Given the description of an element on the screen output the (x, y) to click on. 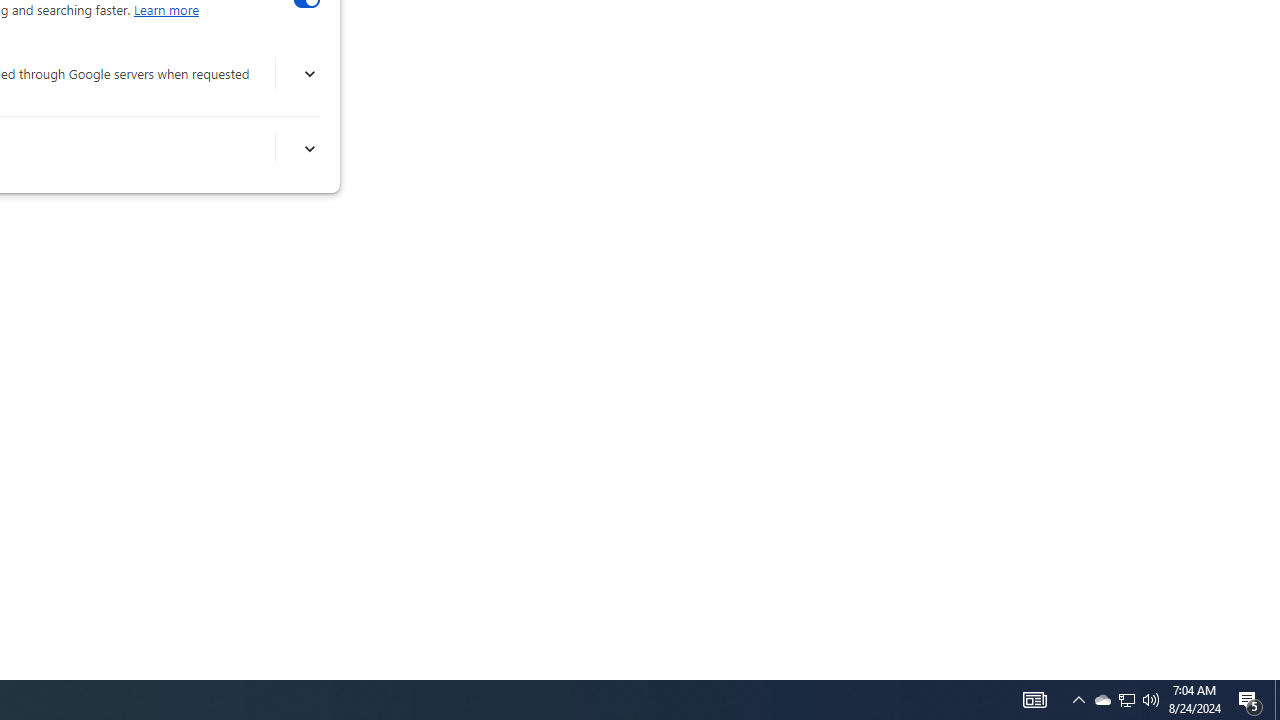
 More info about turning on standard preloading (308, 149)
 More info about turning on extended preloading (308, 74)
